Given the description of an element on the screen output the (x, y) to click on. 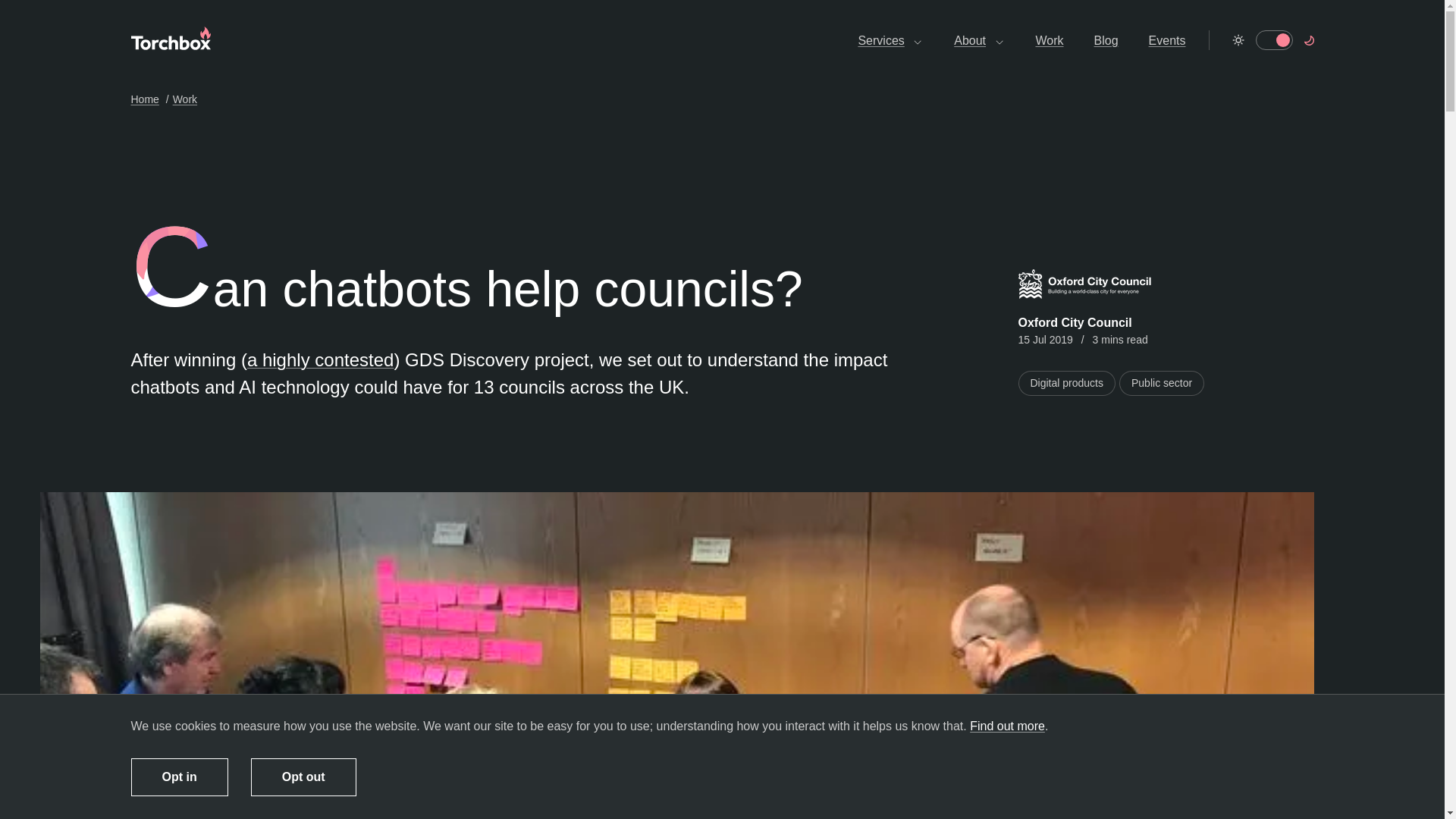
Services (890, 40)
Blog (1106, 40)
Events (1167, 40)
Work (1049, 40)
About (978, 40)
